Given the description of an element on the screen output the (x, y) to click on. 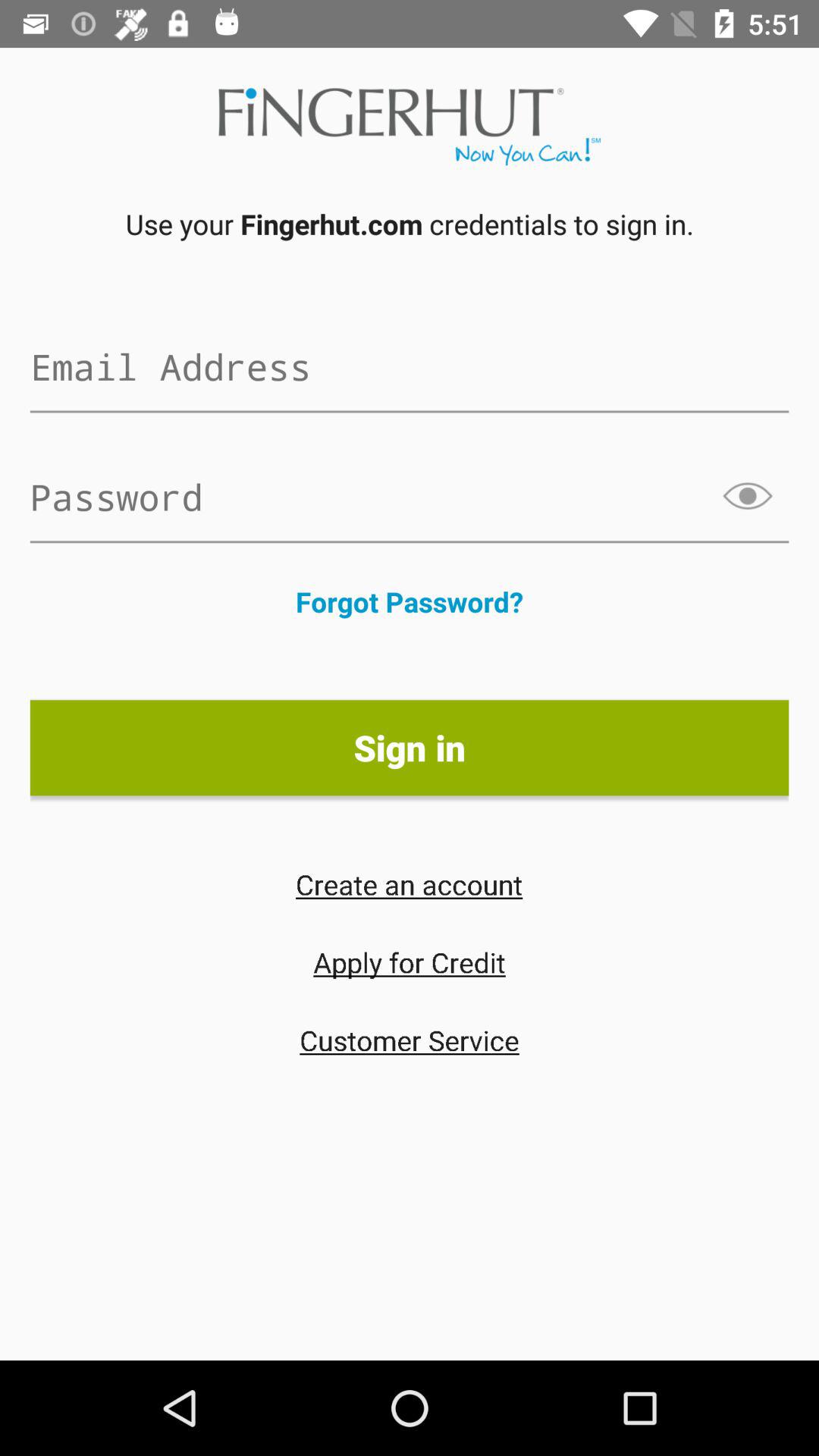
turn off the forgot password? (409, 601)
